Given the description of an element on the screen output the (x, y) to click on. 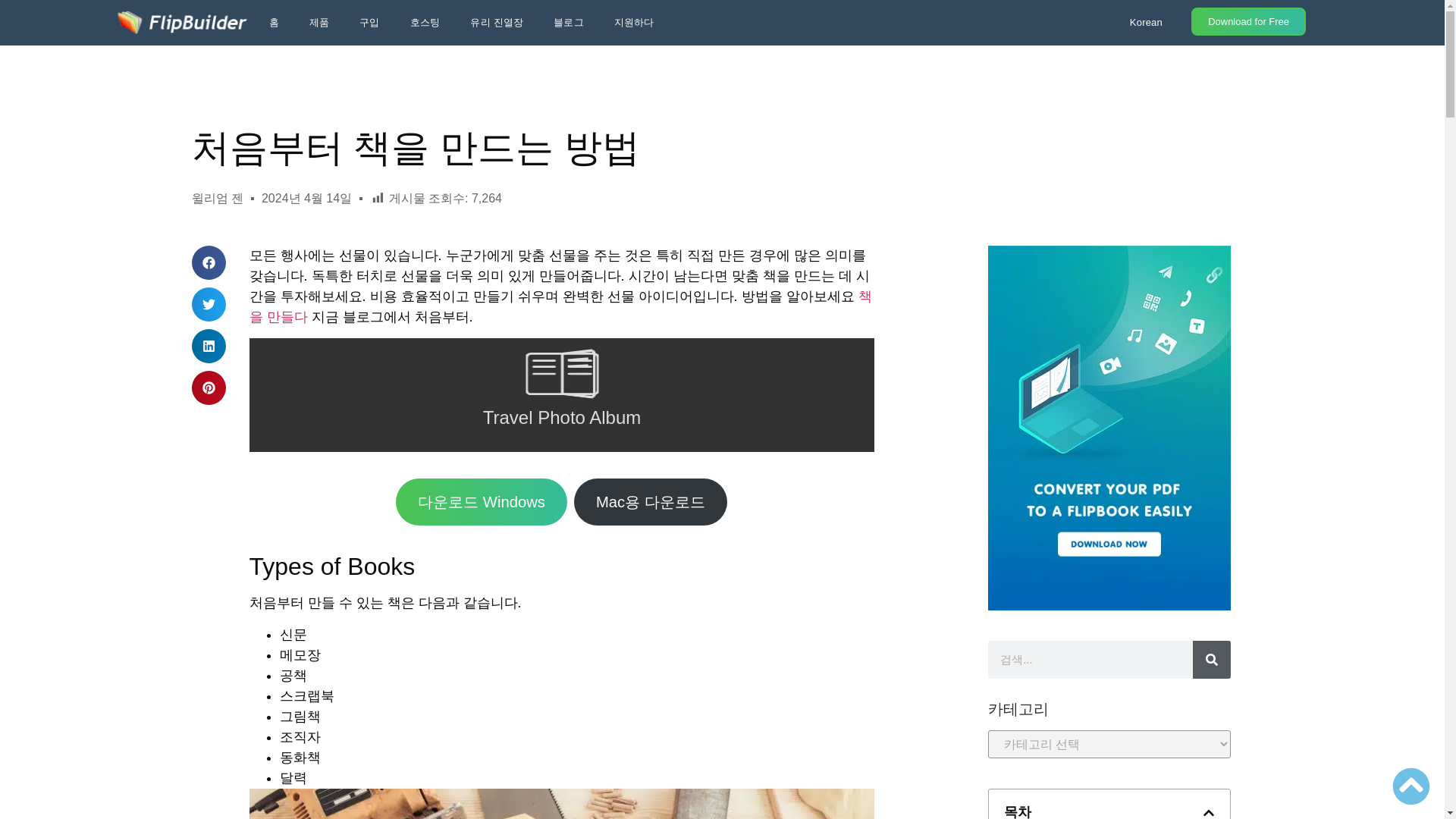
Korean (1145, 22)
